Given the description of an element on the screen output the (x, y) to click on. 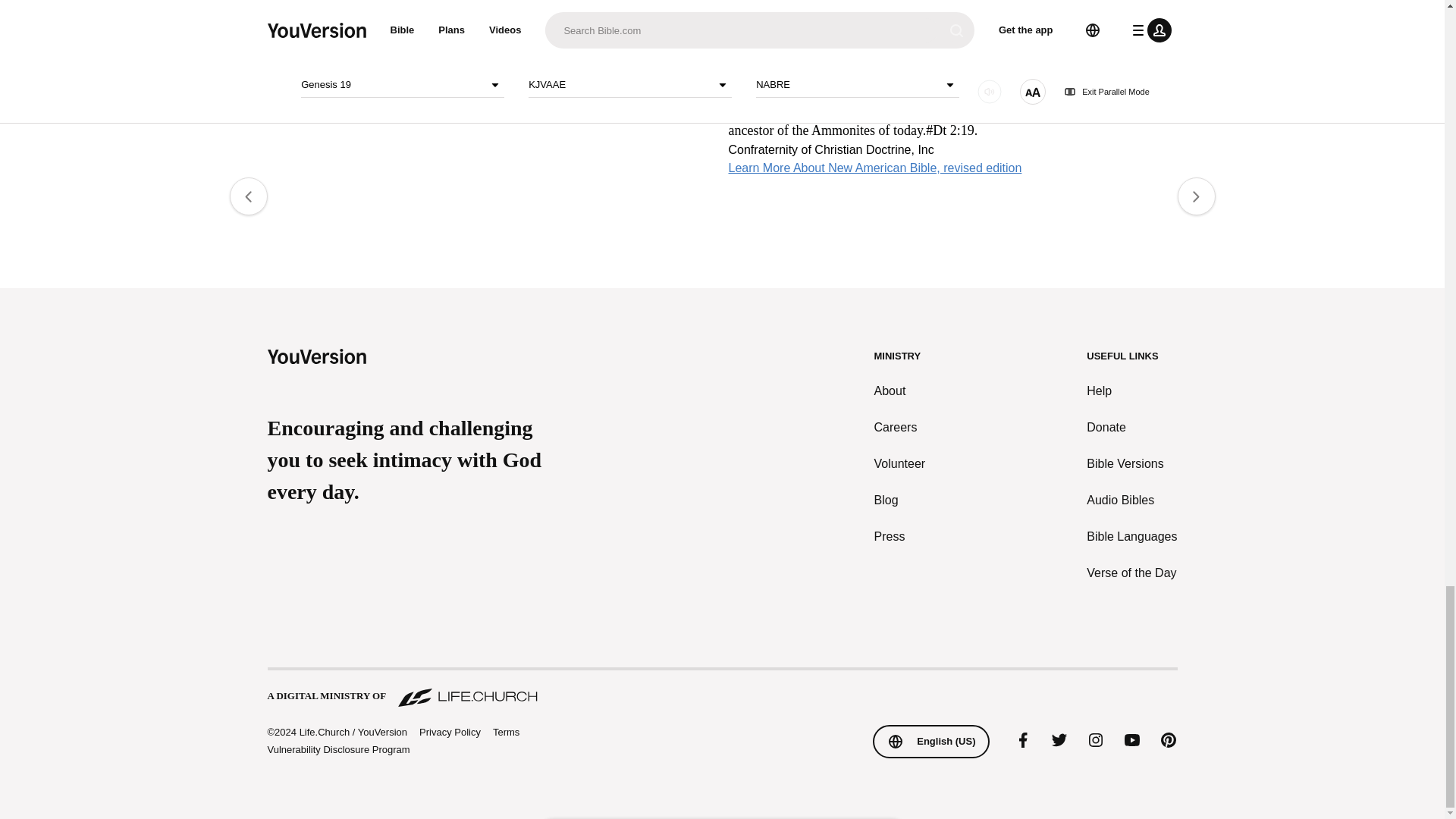
Help (1131, 390)
Volunteer (900, 463)
Bible Versions (1131, 463)
Verse of the Day (1131, 572)
Vulnerability Disclosure Program (337, 749)
Donate (1131, 426)
Audio Bibles (1131, 499)
Privacy Policy (449, 731)
Terms (506, 731)
Press (900, 536)
